Given the description of an element on the screen output the (x, y) to click on. 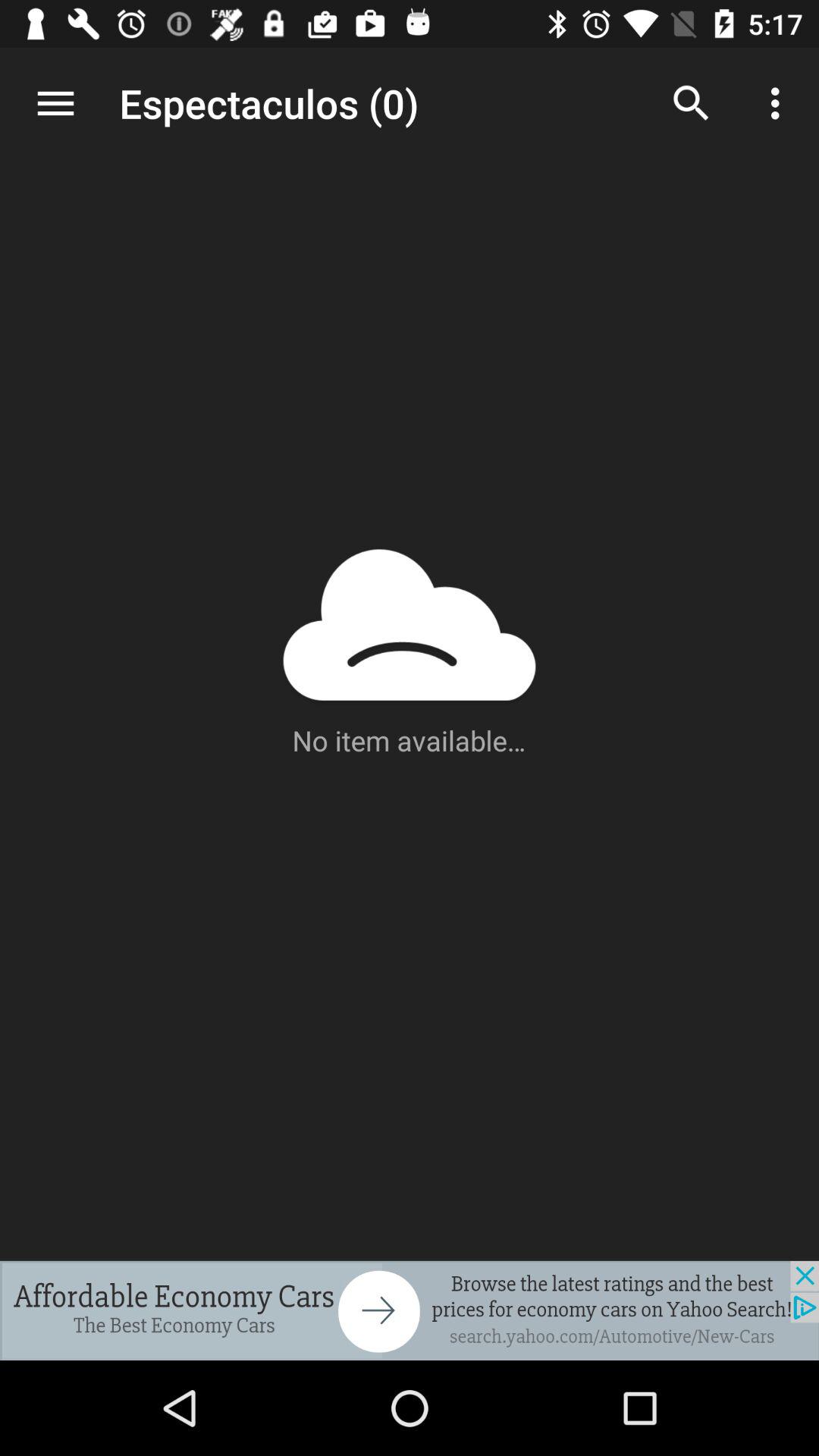
go to advertisement (409, 1310)
